Given the description of an element on the screen output the (x, y) to click on. 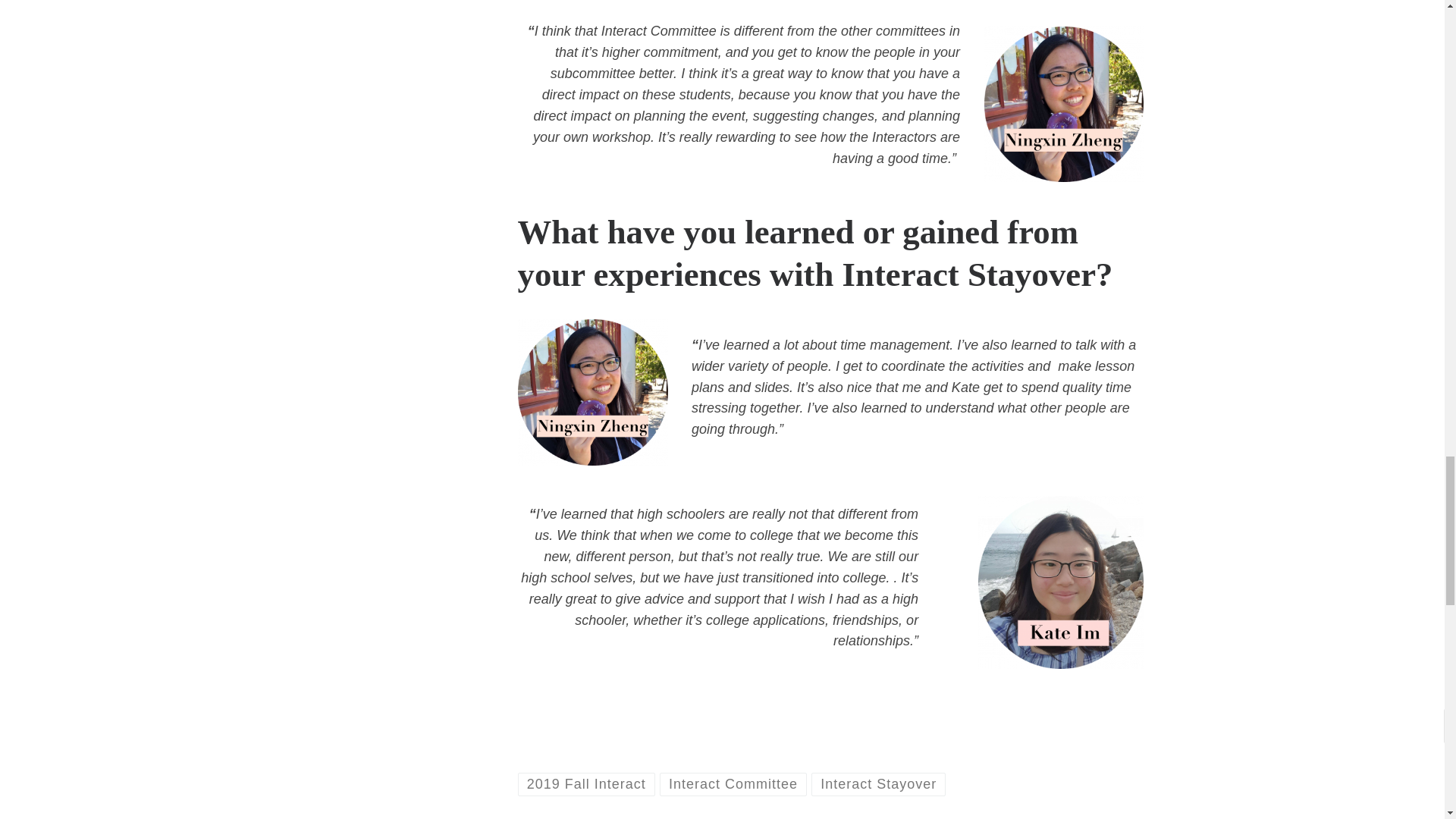
View all posts in Interact Committee (733, 784)
View all posts in 2019 Fall Interact (585, 784)
View all posts in Interact Stayover (878, 784)
